Given the description of an element on the screen output the (x, y) to click on. 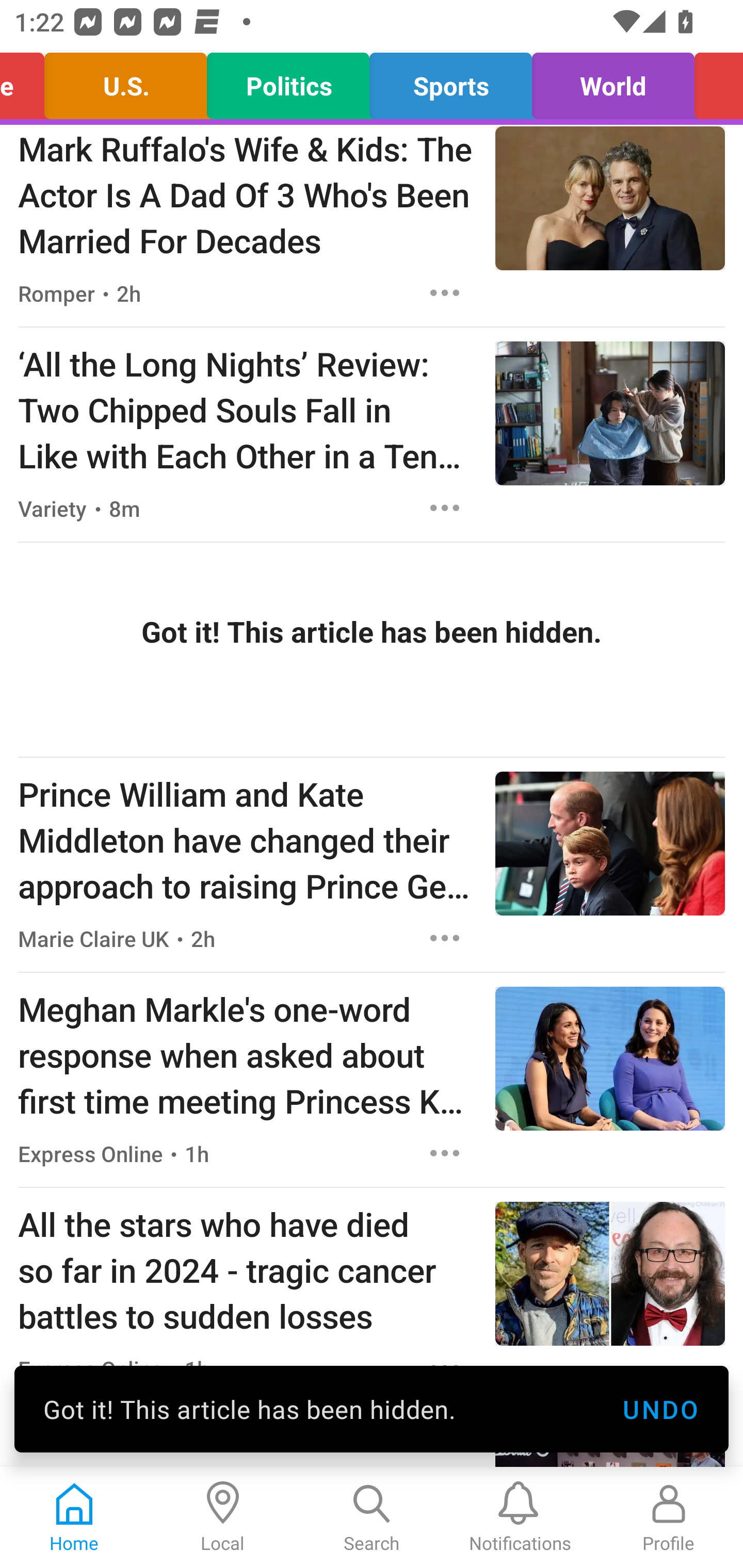
U.S. (125, 81)
Politics (288, 81)
Sports (450, 81)
World (612, 81)
Options (444, 293)
Options (444, 507)
Options (444, 722)
Options (444, 938)
Options (444, 1153)
UNDO (660, 1408)
Local (222, 1517)
Search (371, 1517)
Notifications (519, 1517)
Profile (668, 1517)
